Given the description of an element on the screen output the (x, y) to click on. 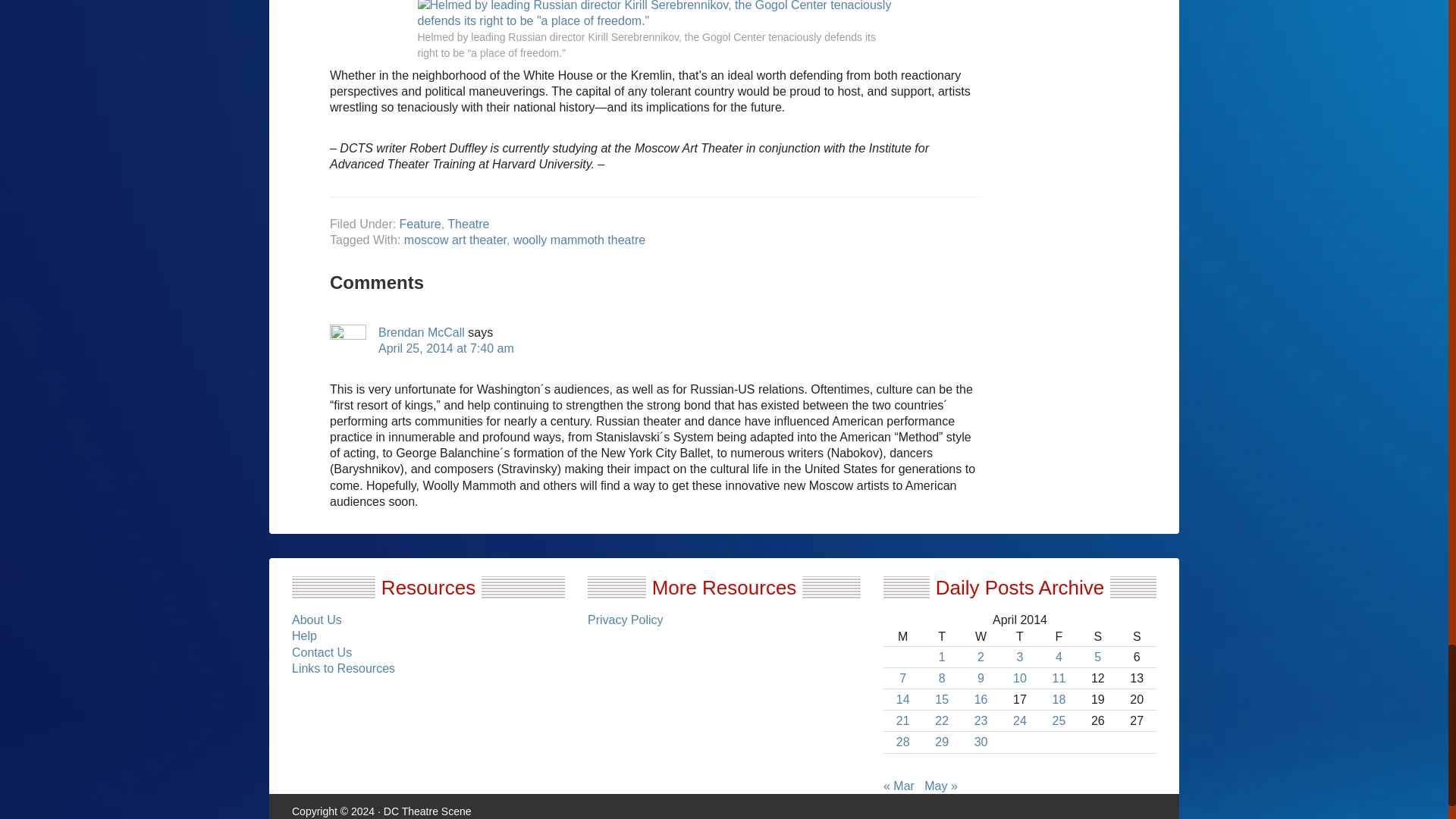
Wednesday (980, 637)
Friday (1058, 637)
Thursday (1019, 637)
Sunday (1137, 637)
Monday (902, 637)
Saturday (1097, 637)
Tuesday (940, 637)
